Given the description of an element on the screen output the (x, y) to click on. 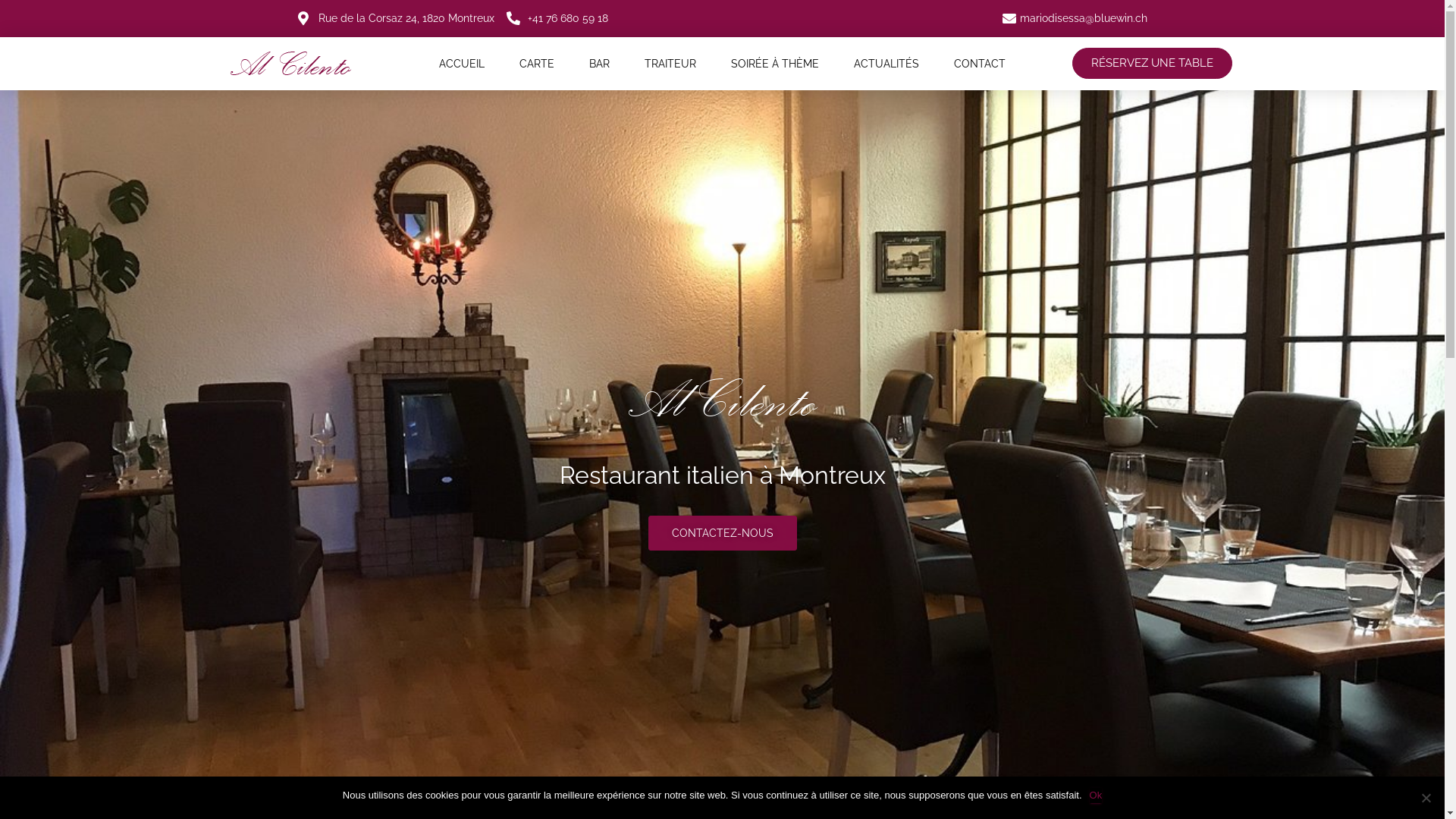
TRAITEUR Element type: text (670, 63)
CARTE Element type: text (536, 63)
Ok Element type: text (1095, 795)
Non Element type: hover (1425, 797)
CONTACTEZ-NOUS Element type: text (721, 532)
+41 76 680 59 18 Element type: text (557, 18)
CONTACT Element type: text (979, 63)
ACCUEIL Element type: text (461, 63)
BAR Element type: text (599, 63)
mariodisessa@bluewin.ch Element type: text (1072, 18)
